Given the description of an element on the screen output the (x, y) to click on. 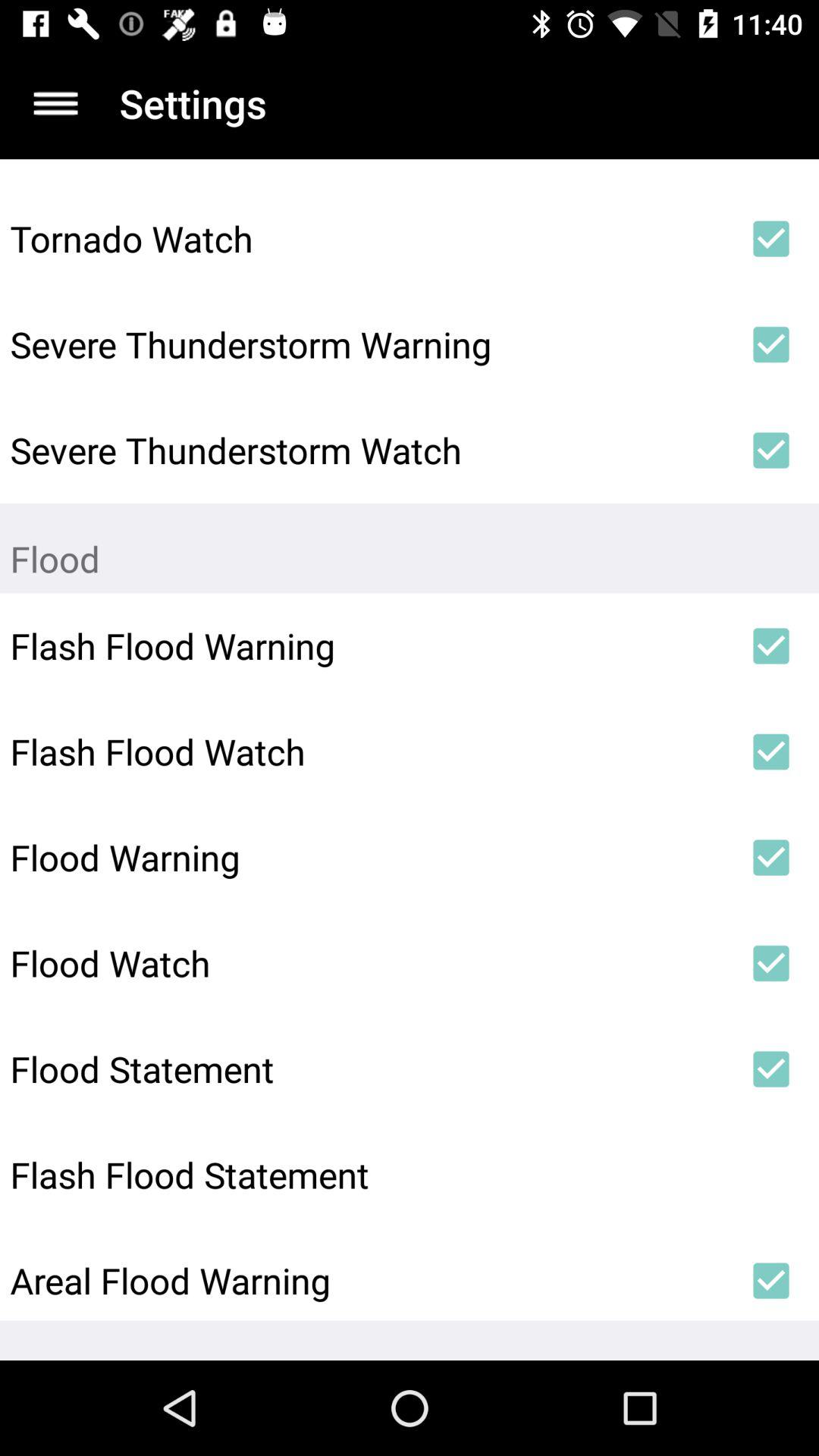
select item to the right of the flood watch icon (771, 963)
